Given the description of an element on the screen output the (x, y) to click on. 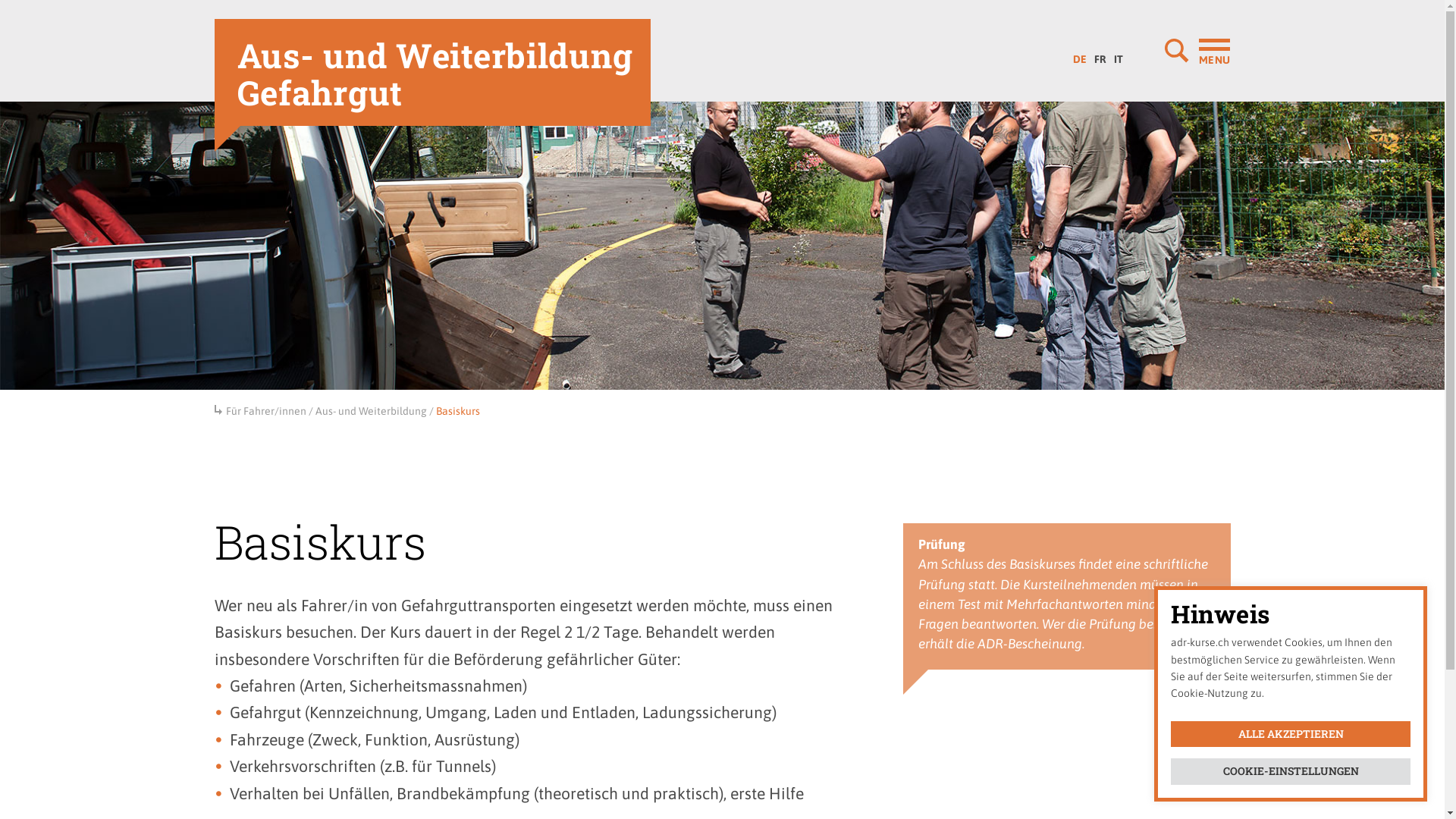
IT Element type: text (1118, 55)
COOKIE-EINSTELLUNGEN Element type: text (1290, 771)
Aus- und Weiterbildung
Gefahrgut Element type: text (431, 71)
ALLE AKZEPTIEREN Element type: text (1290, 734)
MENU Element type: text (1197, 50)
DE Element type: text (1079, 55)
Aus- und Weiterbildung Element type: text (370, 410)
FR Element type: text (1100, 55)
